Given the description of an element on the screen output the (x, y) to click on. 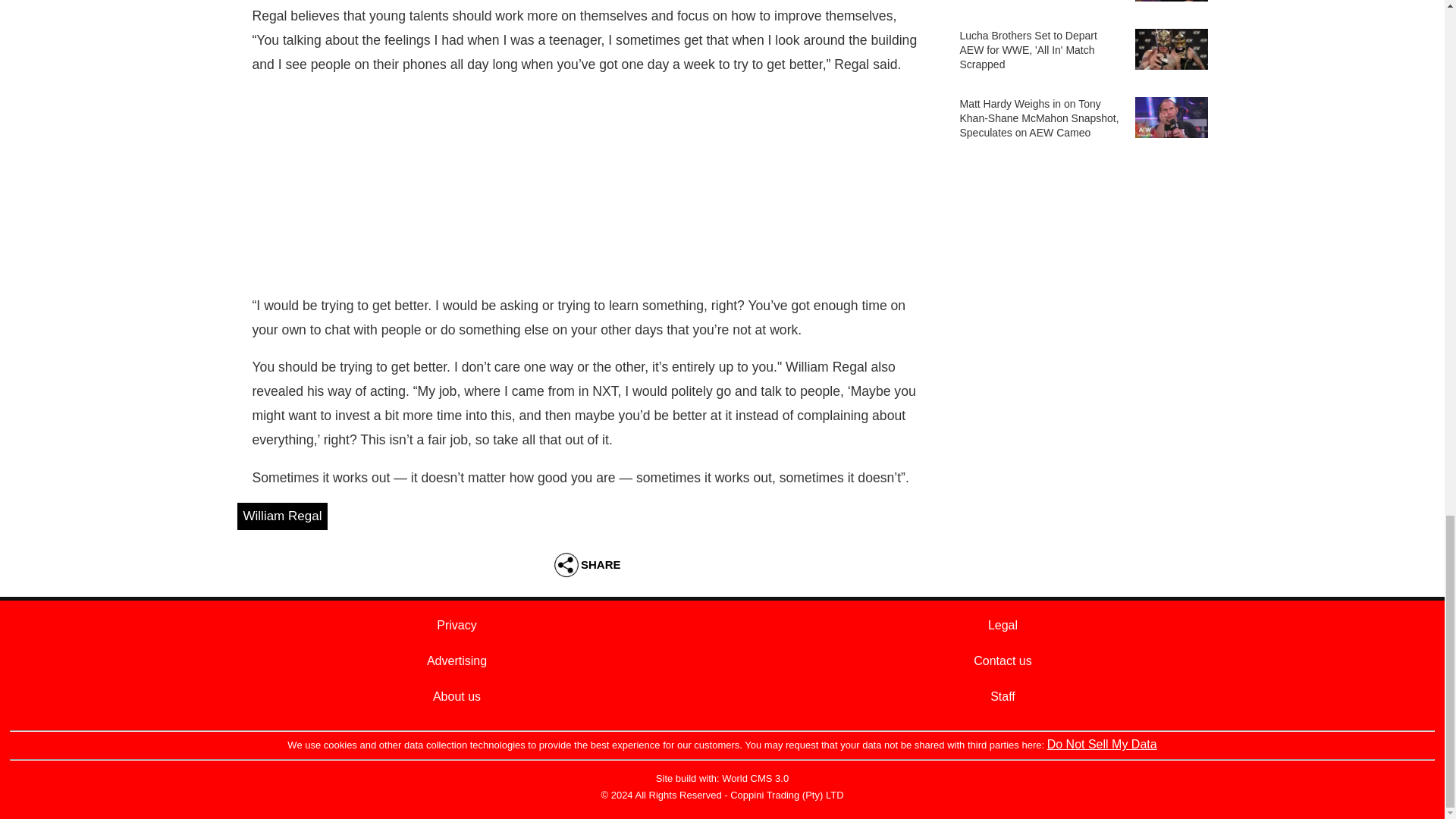
Advertising (456, 660)
William Regal (281, 515)
Privacy (456, 625)
Contact us (1002, 660)
Legal (1002, 625)
